Given the description of an element on the screen output the (x, y) to click on. 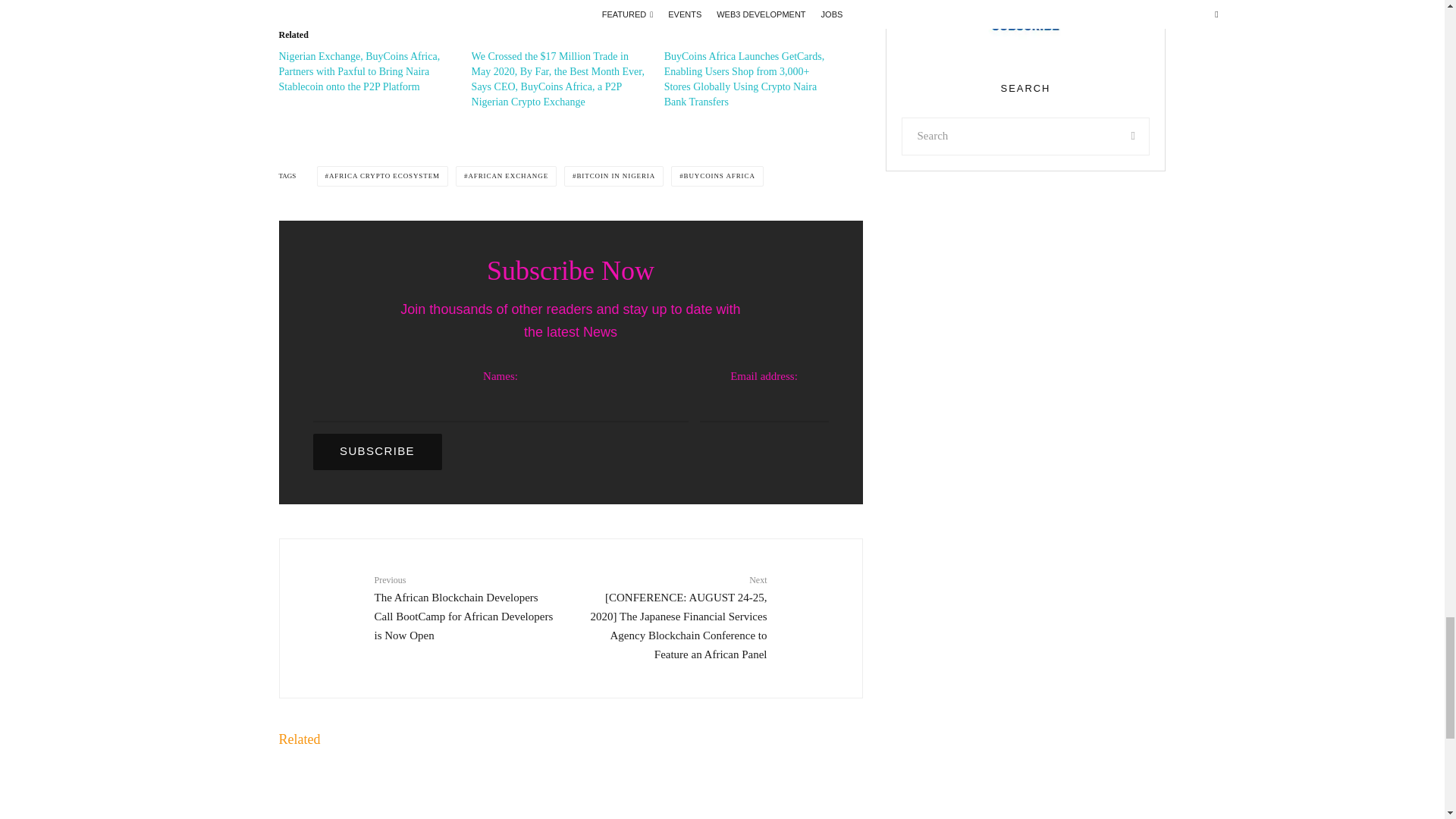
Web3 in Africa (1025, 30)
Subscribe (377, 452)
